Given the description of an element on the screen output the (x, y) to click on. 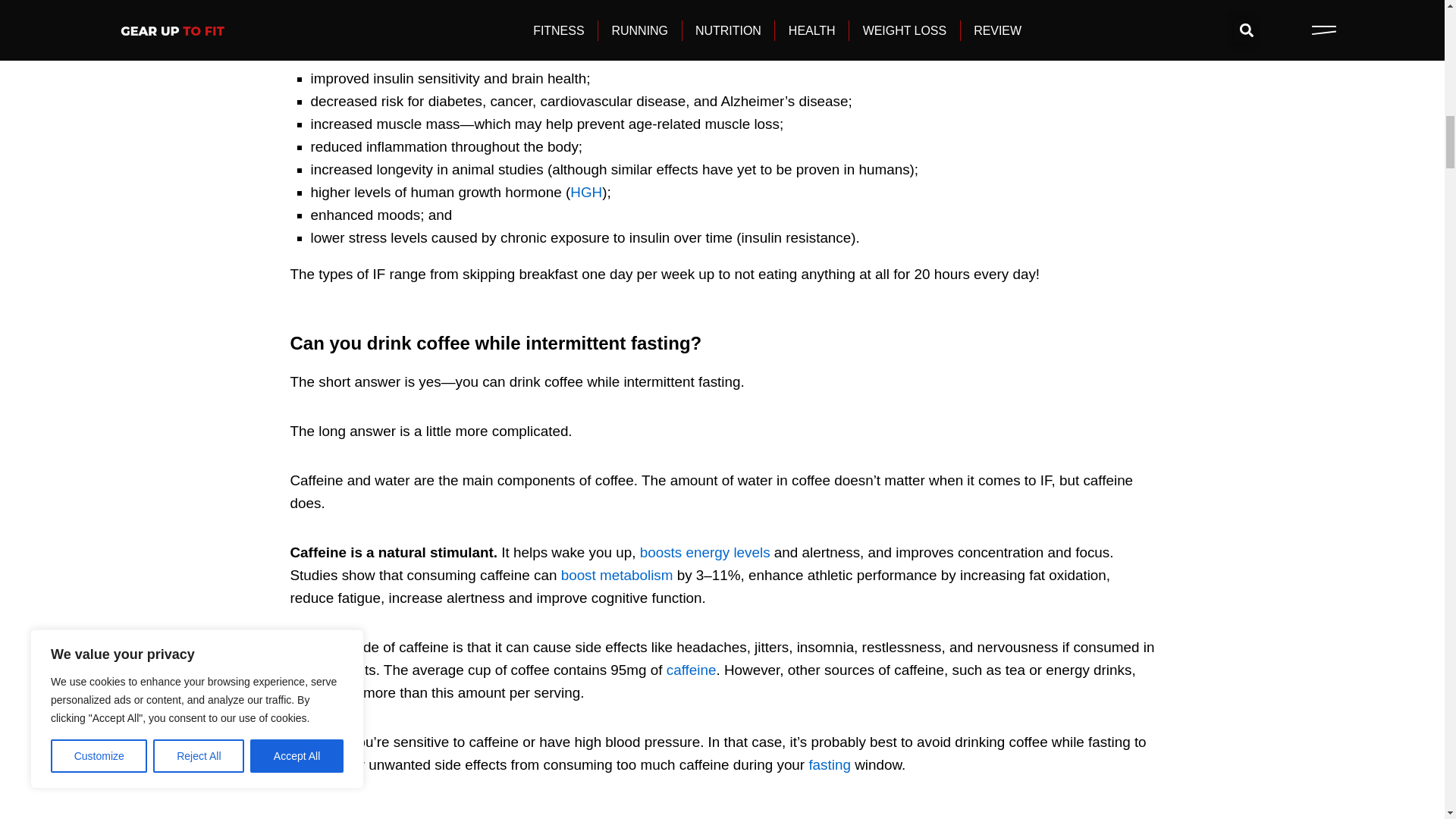
fasting (829, 764)
Healthy food to boost your energy levels (705, 552)
HGH (586, 191)
caffeine (691, 669)
boost metabolism (616, 575)
boost metabolism (616, 575)
boosts energy levels (705, 552)
